Given the description of an element on the screen output the (x, y) to click on. 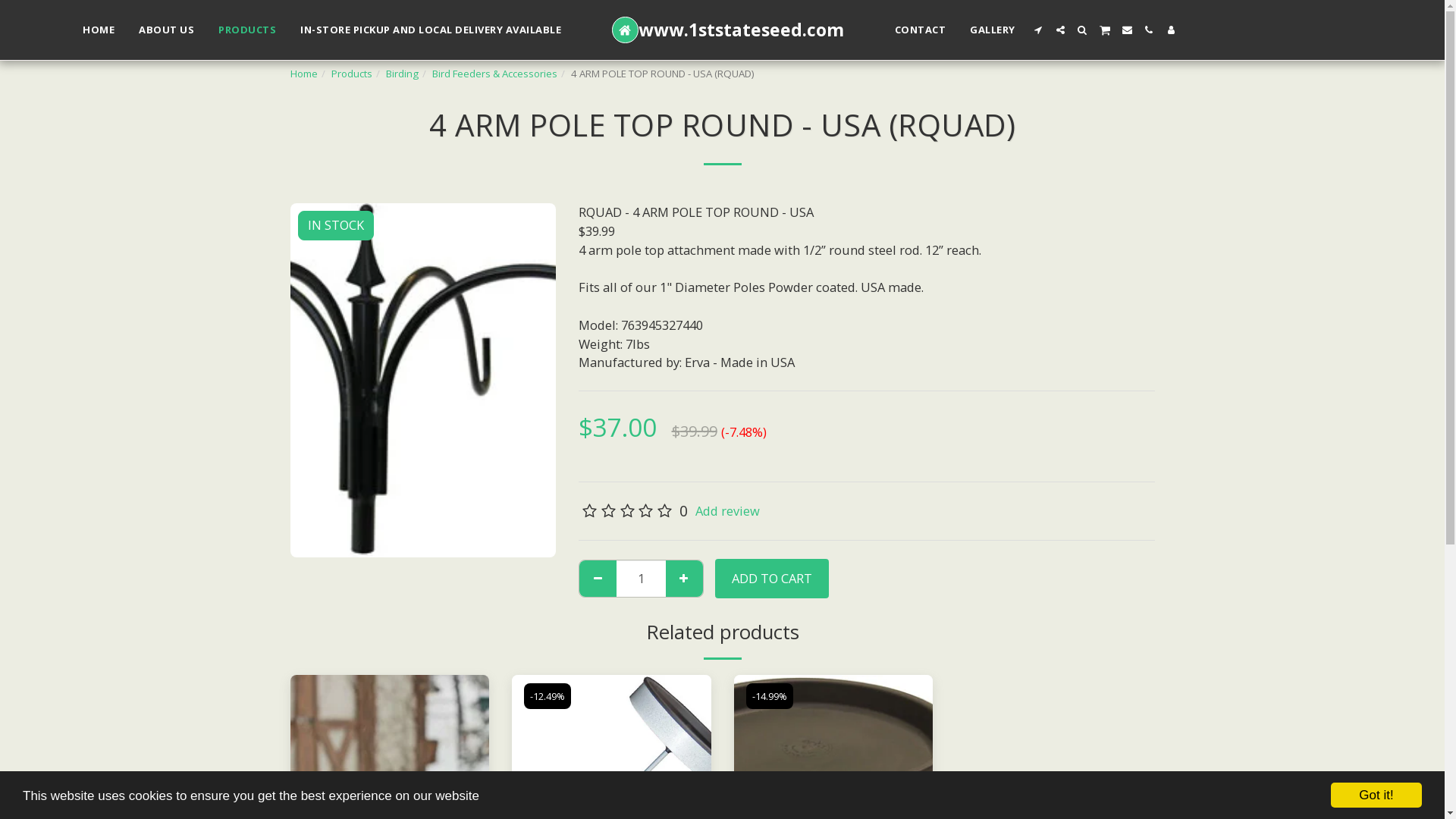
www.1ststateseed.com Element type: text (727, 30)
  Element type: text (1127, 29)
HOME Element type: text (98, 29)
  Element type: text (1149, 29)
Products Element type: text (350, 73)
GALLERY Element type: text (992, 29)
  Element type: text (598, 578)
PRODUCTS Element type: text (247, 29)
CONTACT Element type: text (920, 29)
-12.49% Element type: text (547, 696)
Home Element type: text (302, 73)
Bird Feeders & Accessories Element type: text (494, 73)
  Element type: text (1082, 29)
-14.99% Element type: text (769, 696)
IN-STORE PICKUP AND LOCAL DELIVERY AVAILABLE Element type: text (430, 29)
  Element type: text (1104, 29)
Birding Element type: text (401, 73)
ABOUT US Element type: text (166, 29)
Got it! Element type: text (1375, 794)
Add review Element type: text (727, 510)
  Element type: text (1060, 29)
  Element type: text (1171, 29)
  Element type: text (1038, 29)
ADD TO CART Element type: text (771, 578)
  Element type: text (683, 578)
